Given the description of an element on the screen output the (x, y) to click on. 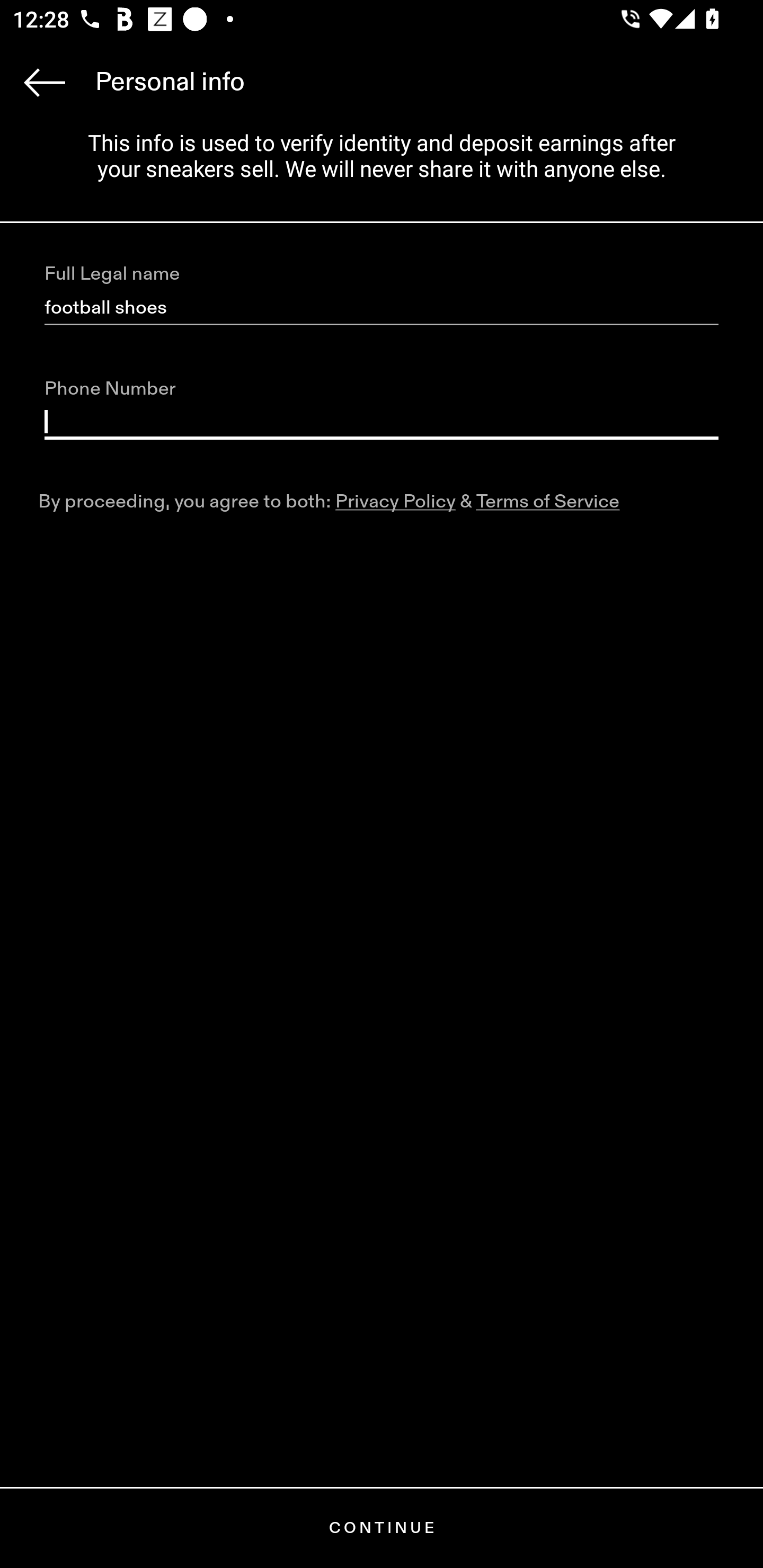
Navigate up (44, 82)
football shoes (381, 308)
Phone Number (381, 422)
CONTINUE (381, 1528)
